Given the description of an element on the screen output the (x, y) to click on. 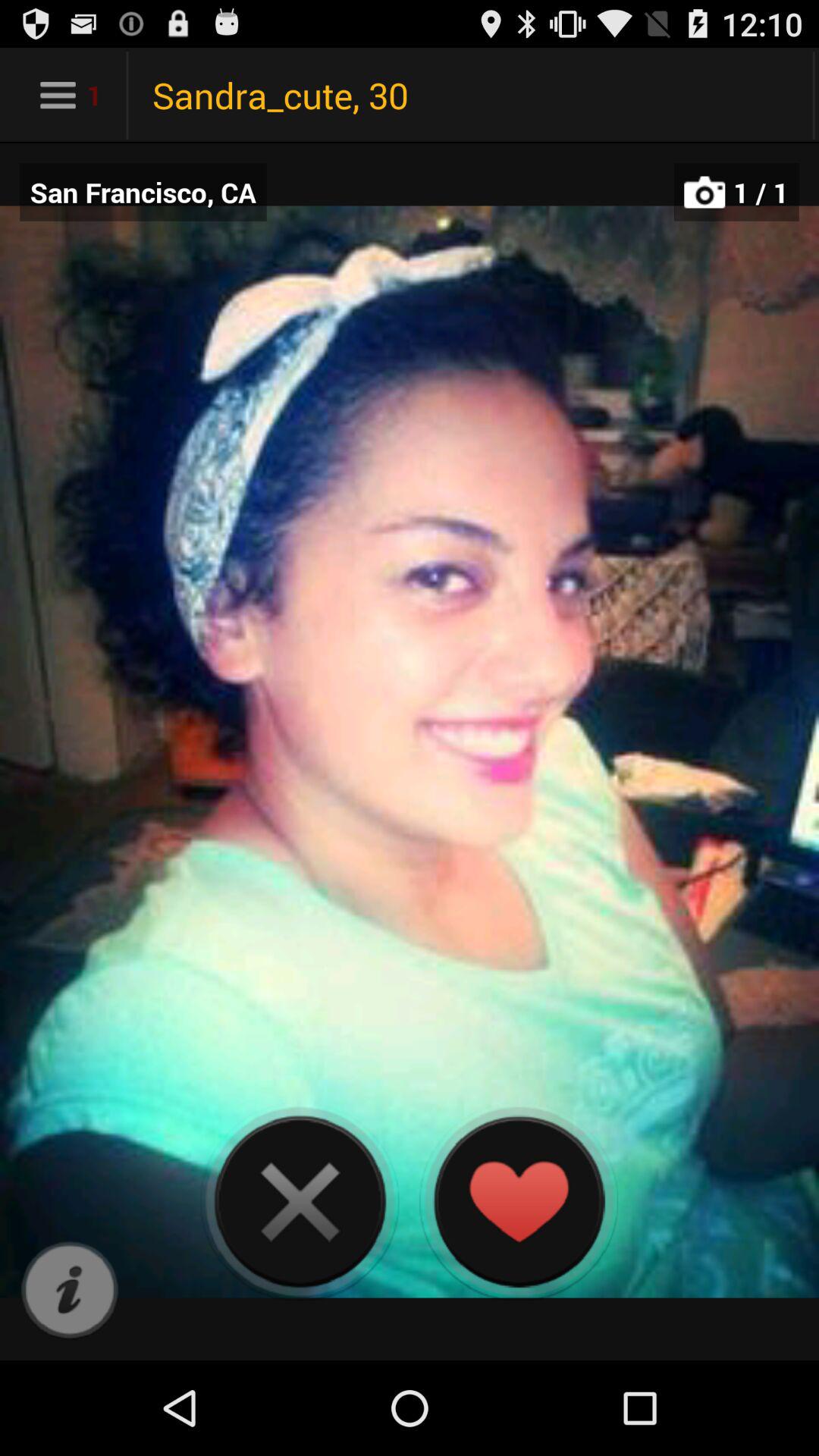
post to instagram (69, 1290)
